Given the description of an element on the screen output the (x, y) to click on. 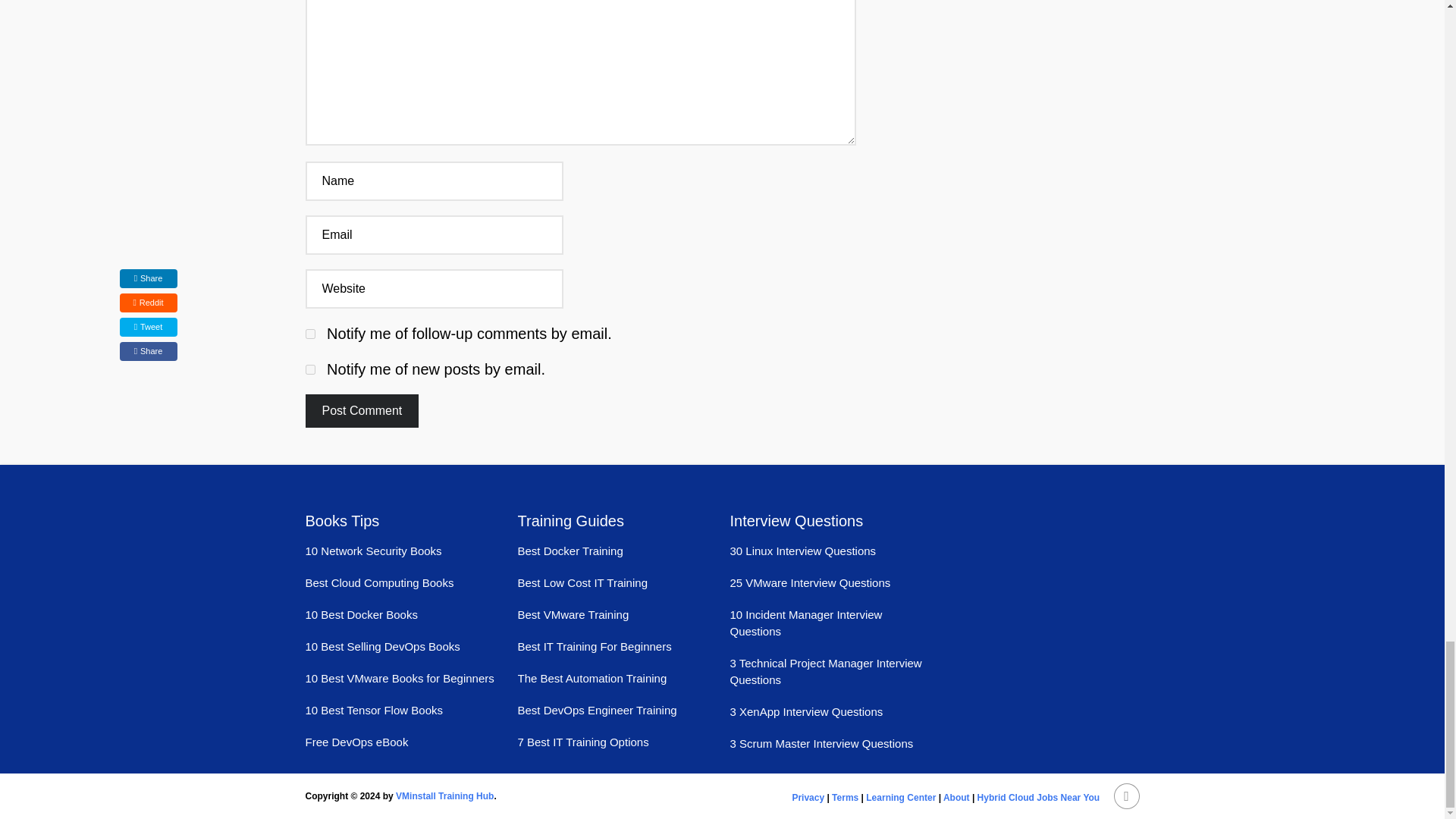
Post Comment (361, 410)
subscribe (309, 369)
subscribe (309, 334)
